Given the description of an element on the screen output the (x, y) to click on. 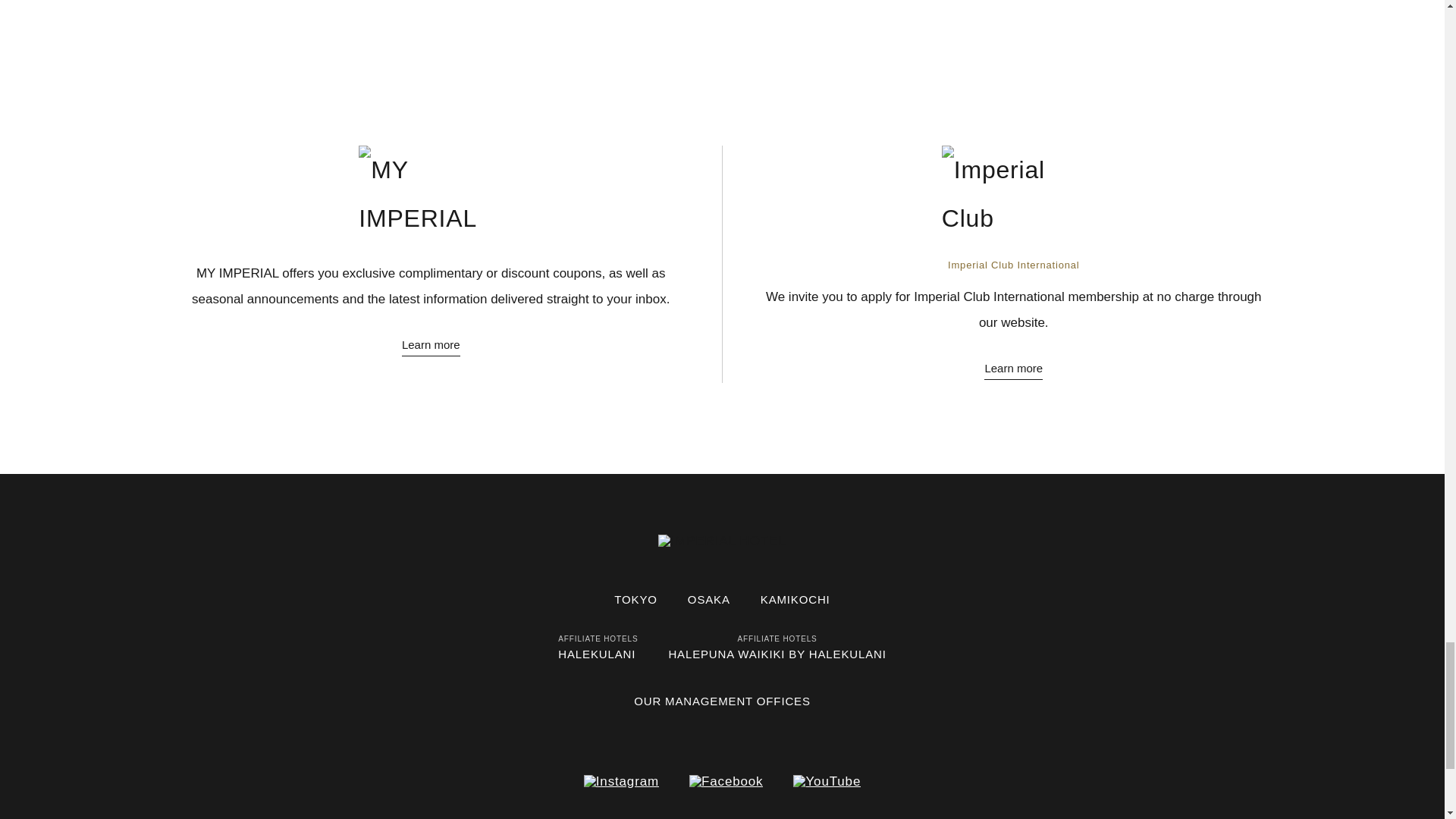
KAMIKOCHI (794, 599)
HALEKULANI (595, 653)
TOKYO (636, 599)
Learn more (1013, 368)
OSAKA (708, 599)
Learn more (430, 344)
